Given the description of an element on the screen output the (x, y) to click on. 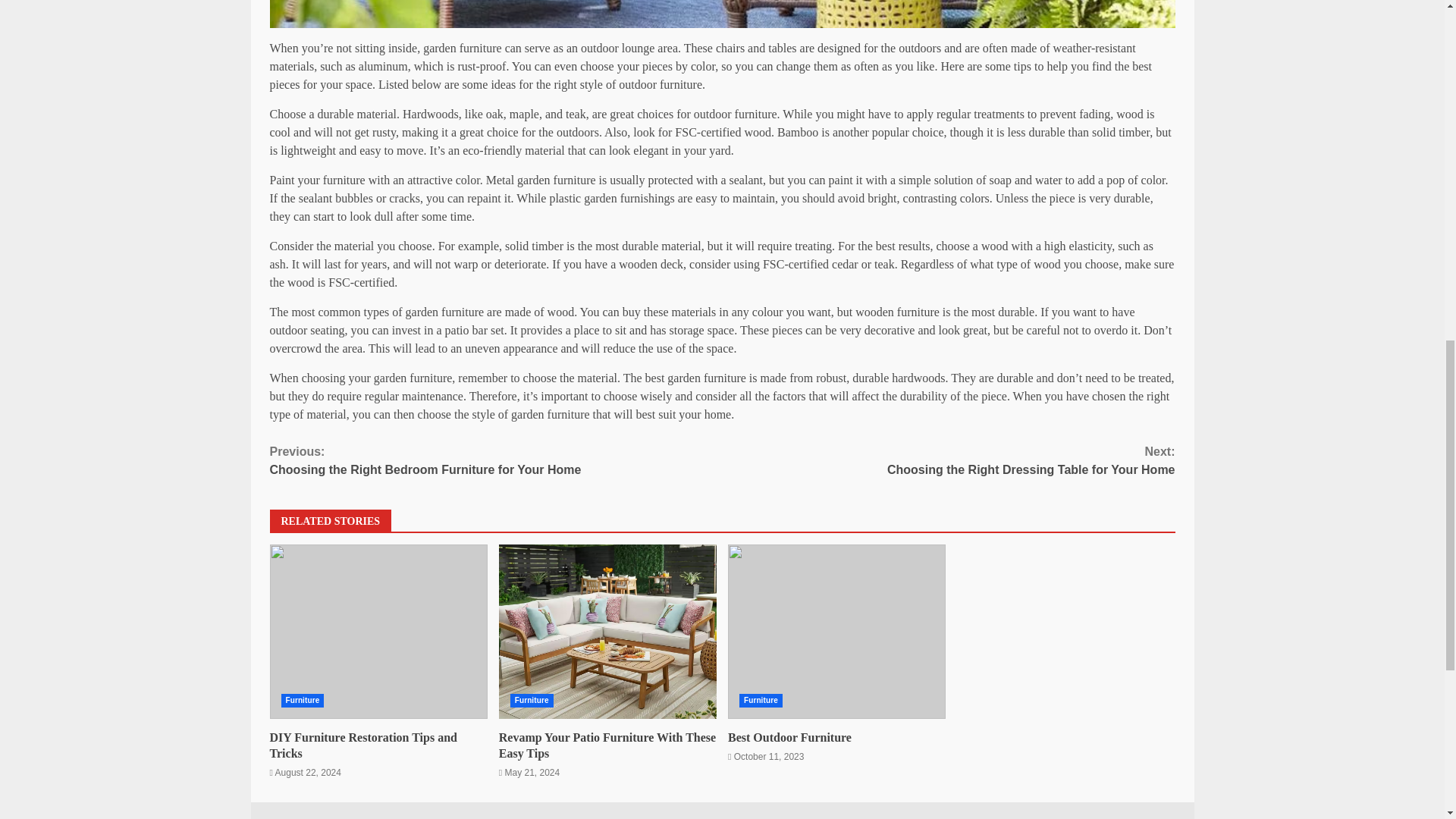
Revamp Your Patio Furniture With These Easy Tips (607, 631)
DIY Furniture Restoration Tips and Tricks (948, 461)
Best Outdoor Furniture (363, 745)
Furniture (836, 631)
Revamp Your Patio Furniture With These Easy Tips (761, 700)
Furniture (607, 745)
Furniture (495, 461)
Best Outdoor Furniture (302, 700)
